Given the description of an element on the screen output the (x, y) to click on. 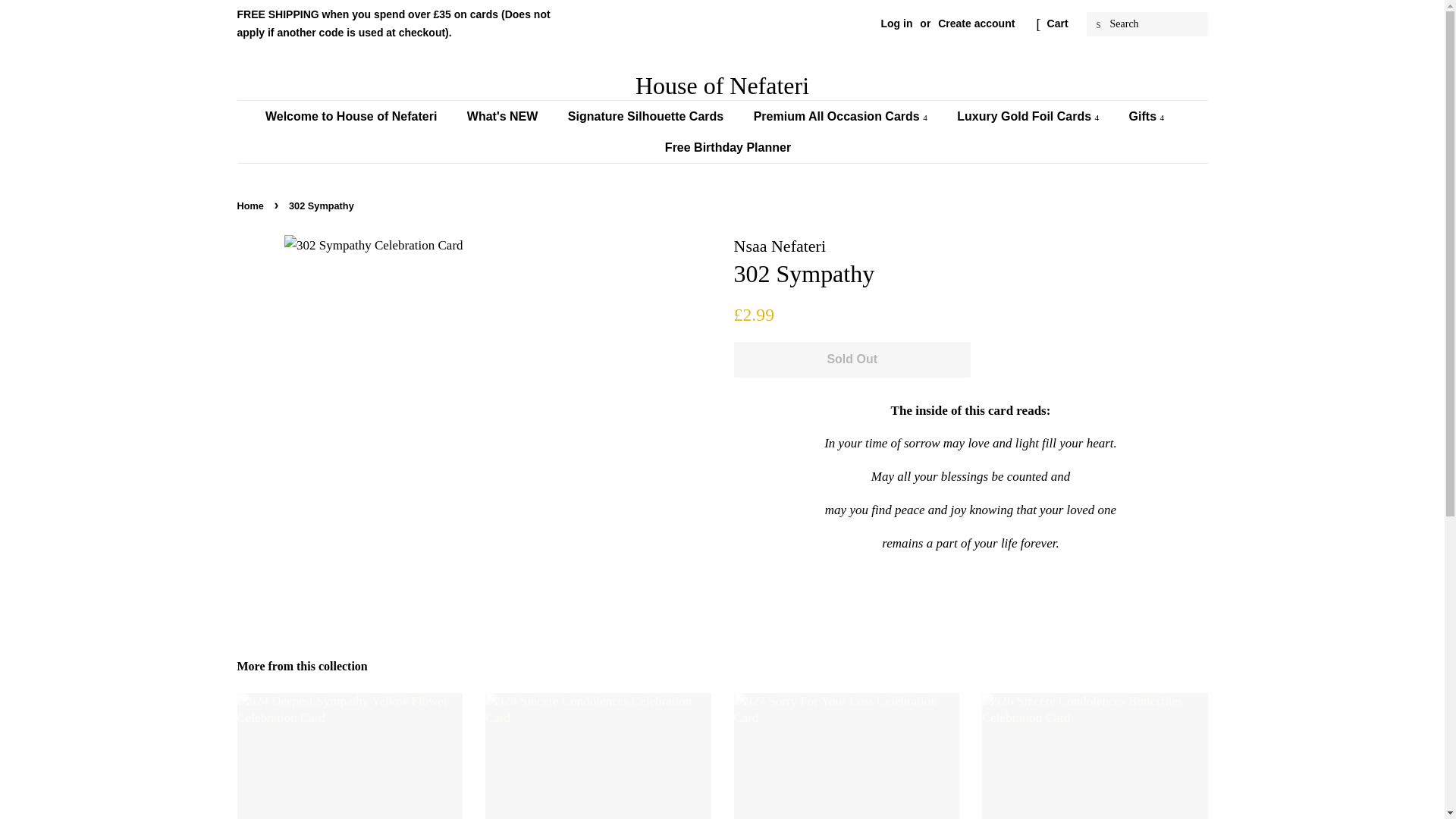
Search (1097, 24)
Log in (896, 23)
Cart (1057, 24)
Back to the frontpage (250, 205)
Create account (975, 23)
